Given the description of an element on the screen output the (x, y) to click on. 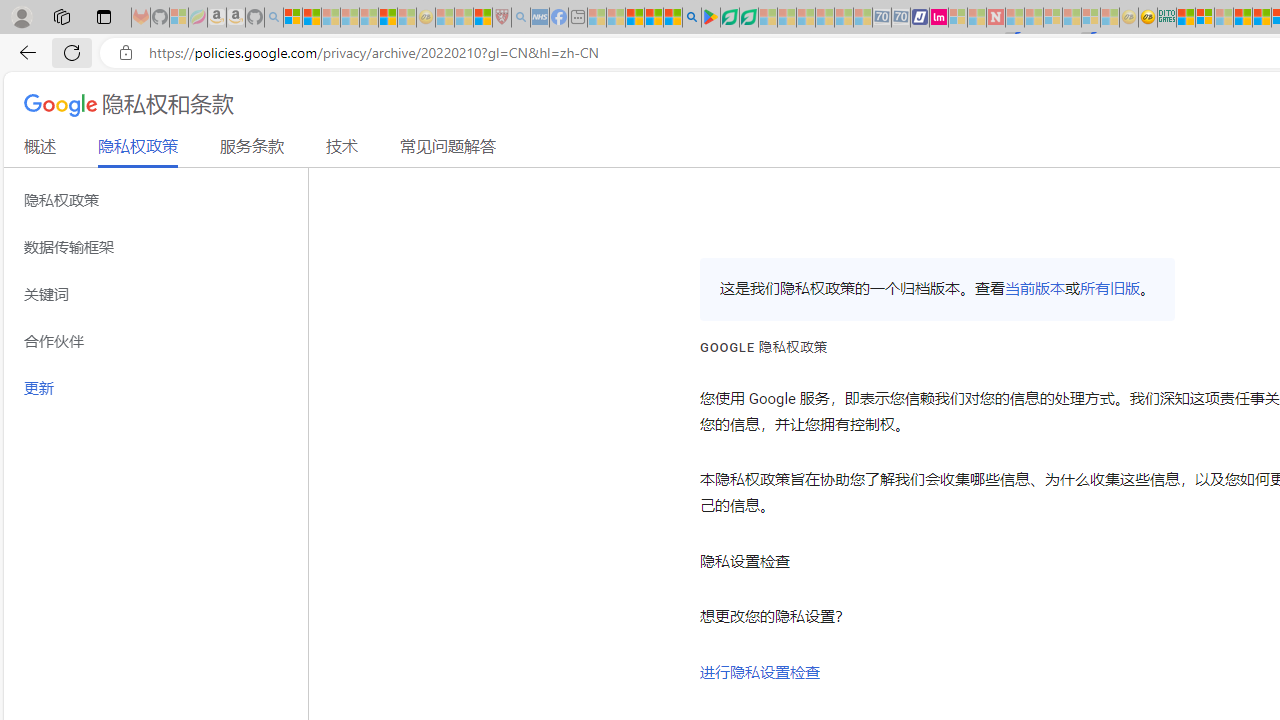
Kinda Frugal - MSN (1262, 17)
